Given the description of an element on the screen output the (x, y) to click on. 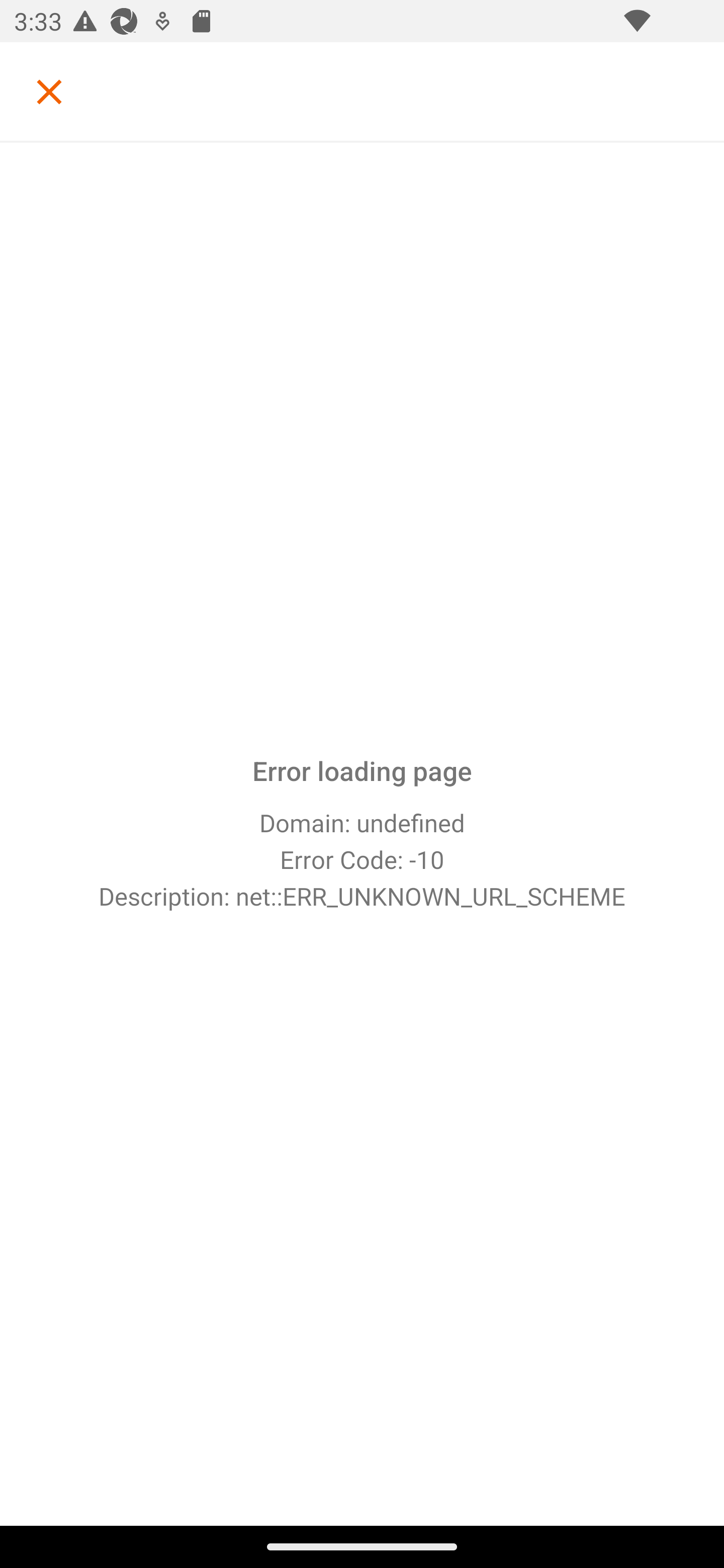
 (49, 91)
